Given the description of an element on the screen output the (x, y) to click on. 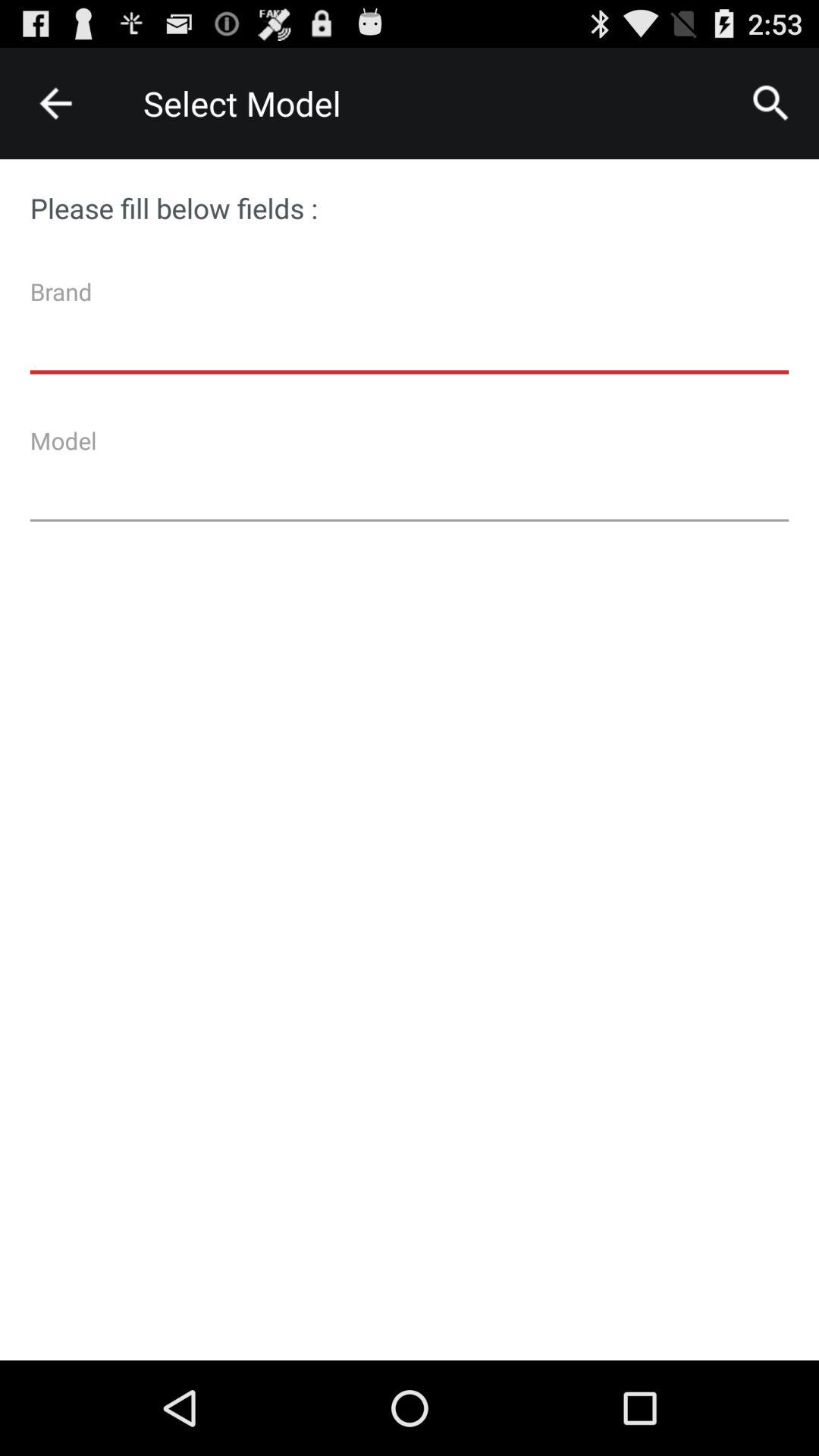
enter email (409, 331)
